Given the description of an element on the screen output the (x, y) to click on. 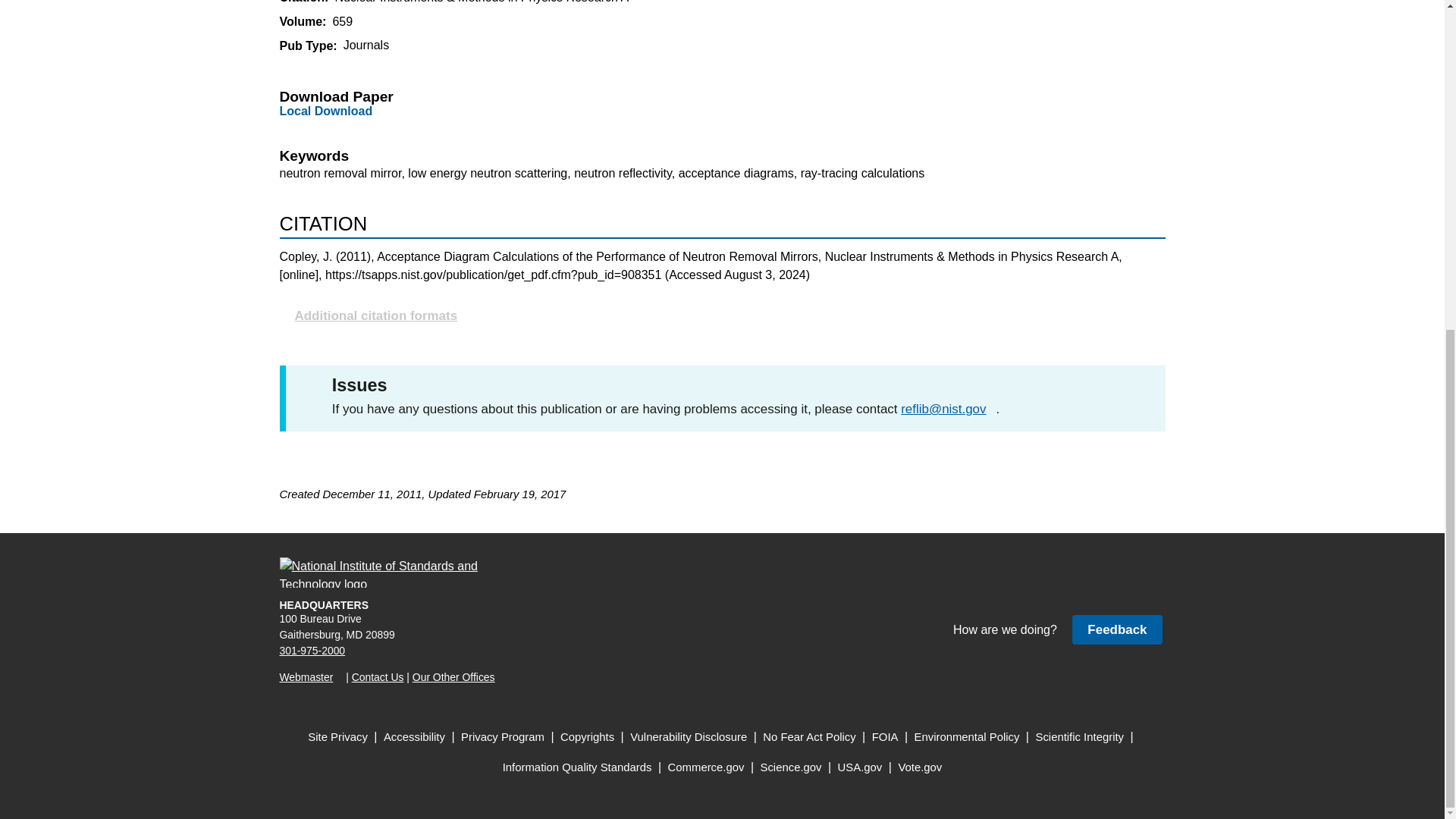
Privacy Program (502, 736)
Our Other Offices (453, 676)
Additional citation formats (721, 315)
Environmental Policy (967, 736)
Copyrights (587, 736)
Vulnerability Disclosure (688, 736)
301-975-2000 (312, 650)
Accessibility (414, 736)
Site Privacy (337, 736)
Contact Us (378, 676)
Local Download (325, 110)
National Institute of Standards and Technology (387, 572)
No Fear Act Policy (809, 736)
Webmaster (310, 676)
Scientific Integrity (1079, 736)
